Given the description of an element on the screen output the (x, y) to click on. 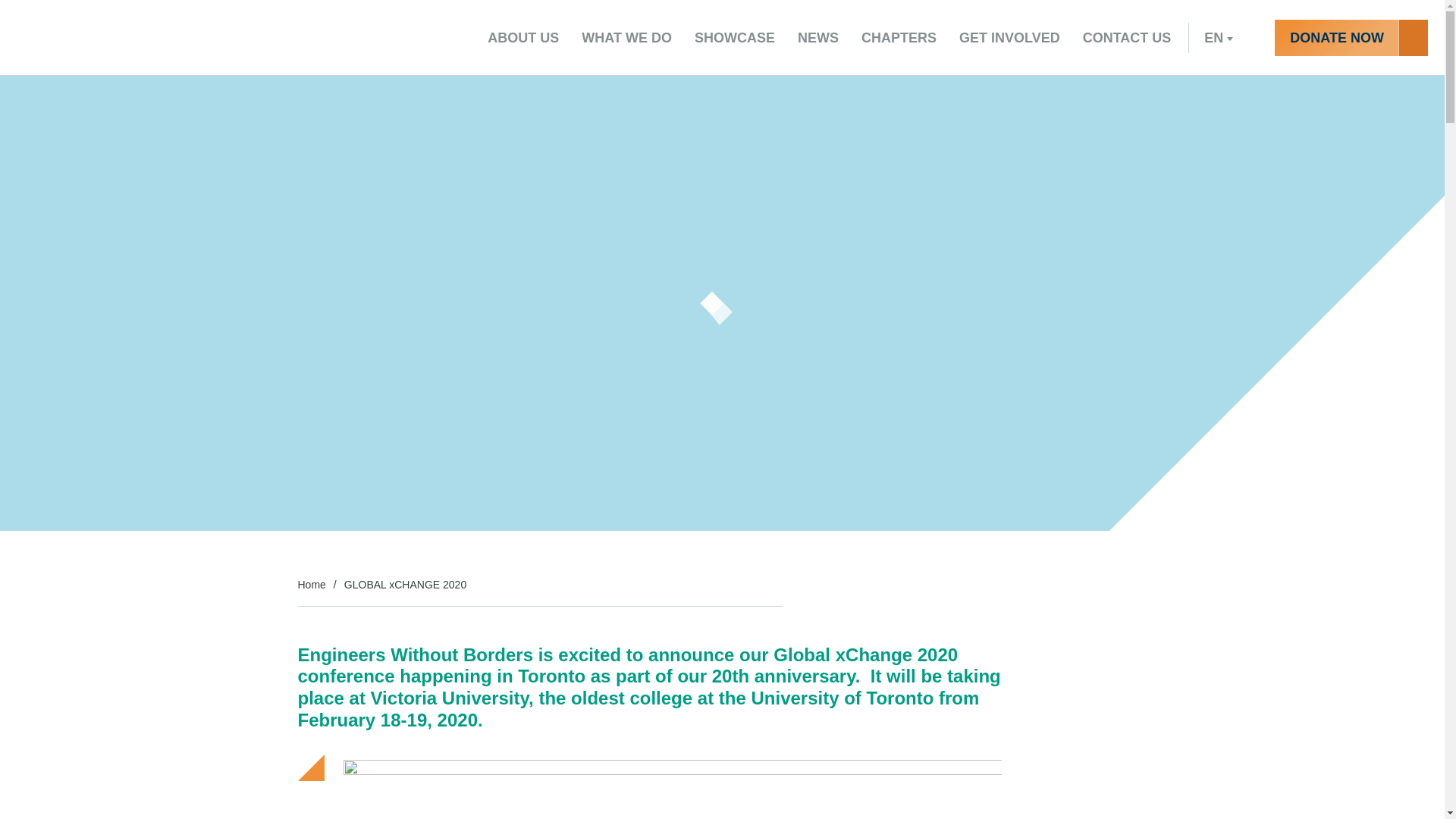
CONTACT US (1126, 38)
CHAPTERS (898, 38)
GET INVOLVED (1009, 38)
ABOUT US (523, 38)
WHAT WE DO (626, 38)
Go to EWB Canada. (310, 585)
Go to home page (347, 37)
SHOWCASE (734, 38)
EWB Canada (347, 37)
